Given the description of an element on the screen output the (x, y) to click on. 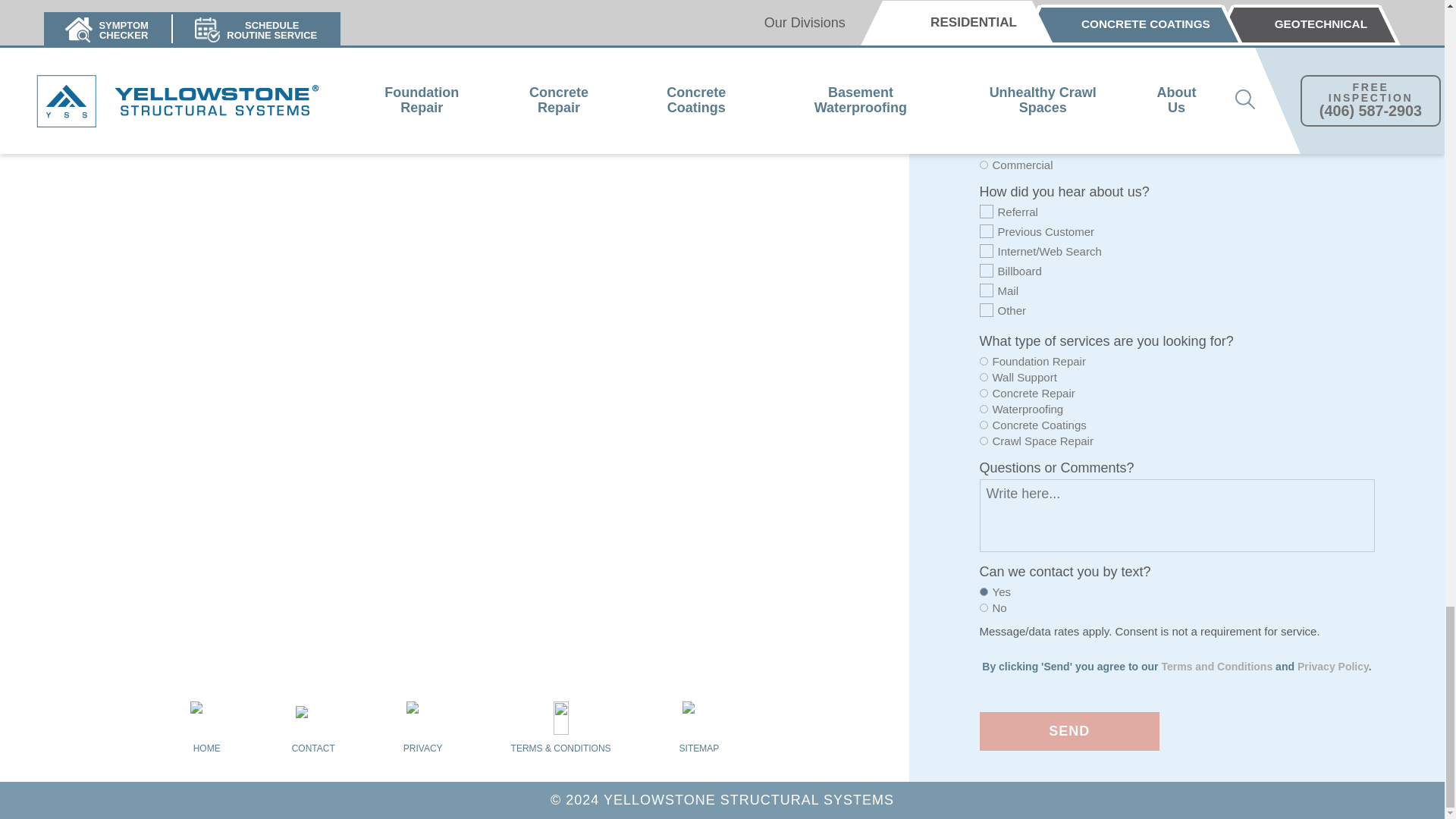
SEND (1069, 731)
